Given the description of an element on the screen output the (x, y) to click on. 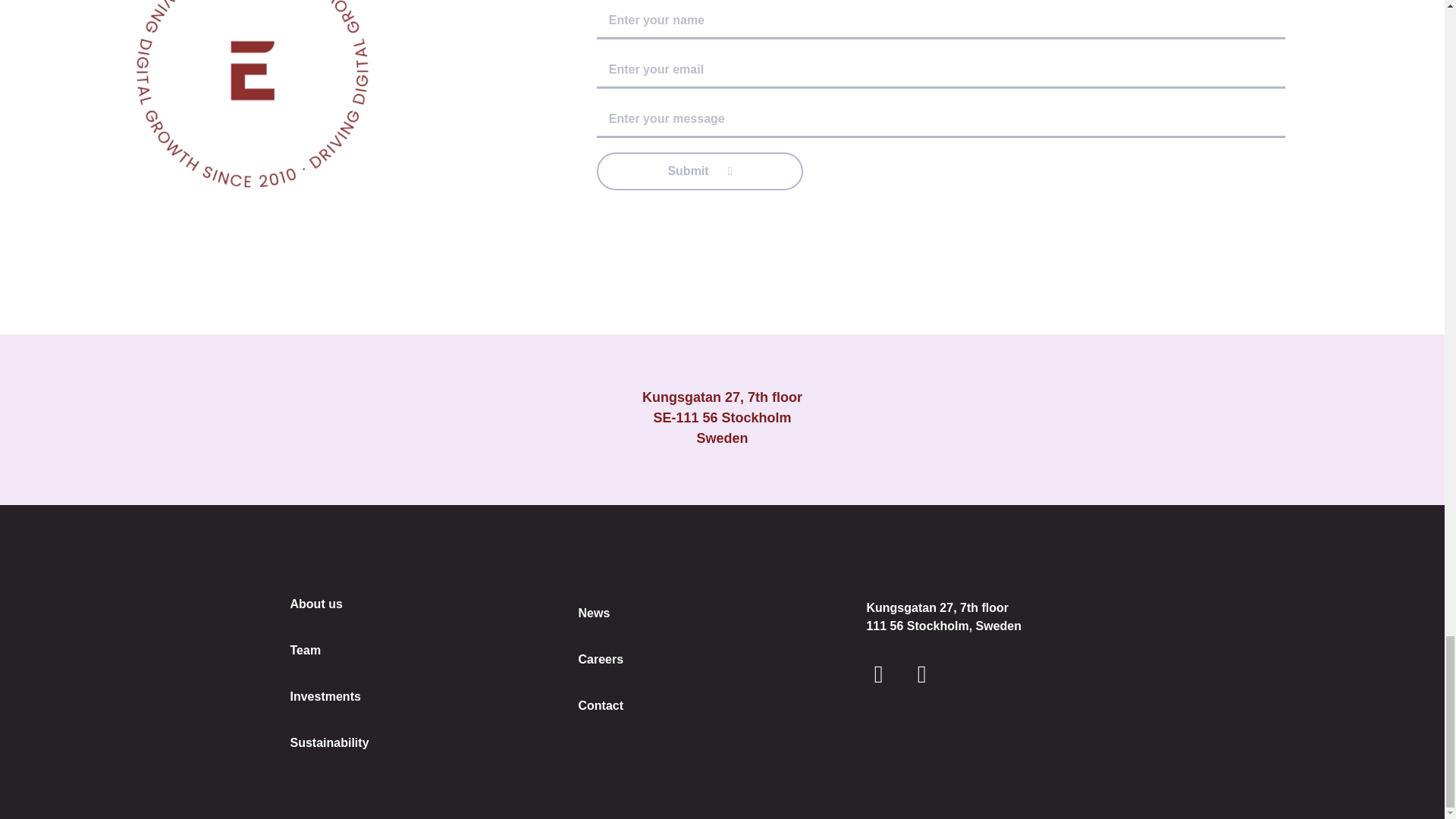
About us (328, 603)
Team (328, 650)
Sustainability (328, 742)
Submit (699, 171)
Investments (328, 696)
